Given the description of an element on the screen output the (x, y) to click on. 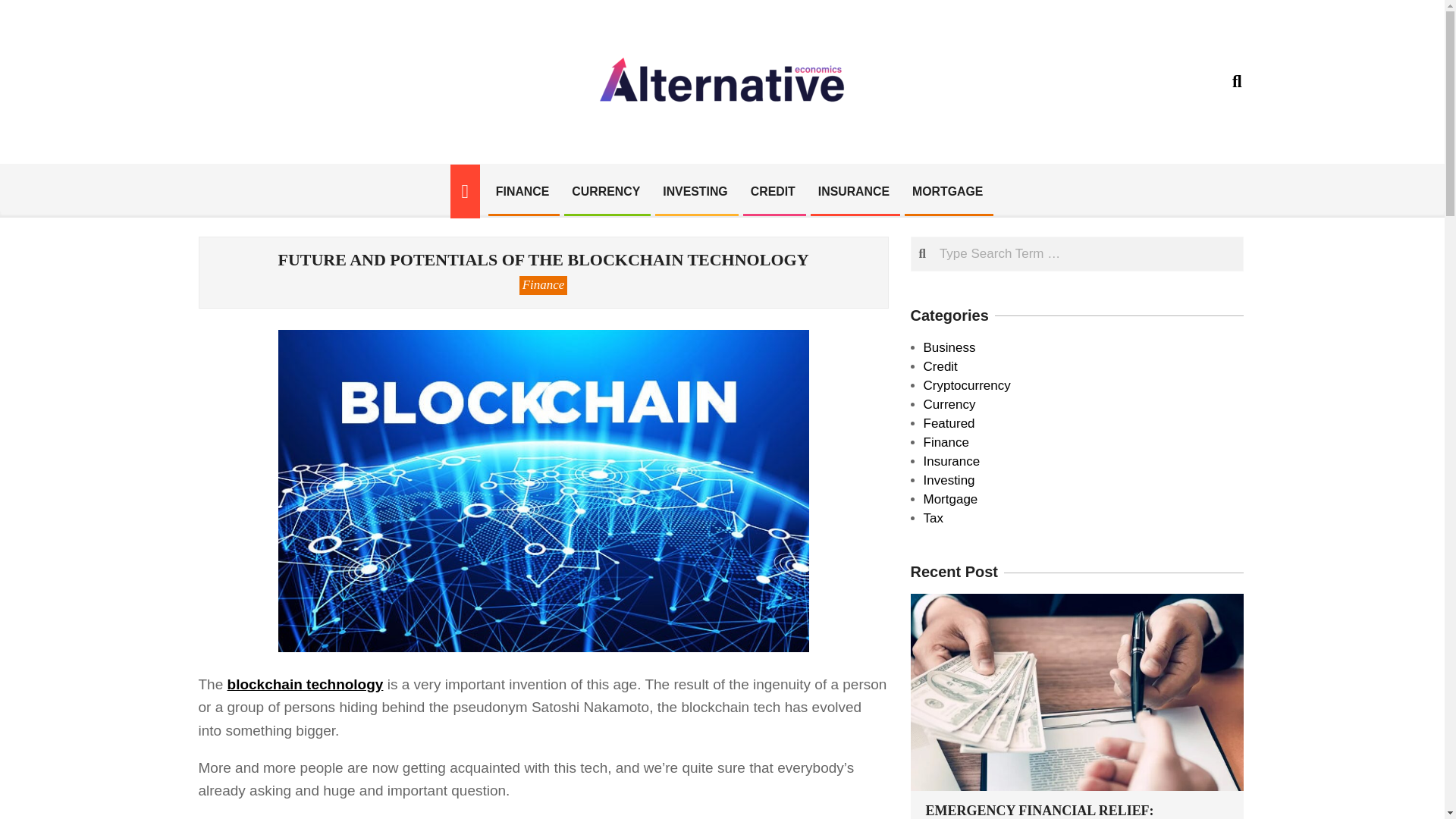
MORTGAGE (947, 190)
Search (27, 10)
Credit (940, 366)
Finance (543, 285)
CREDIT (772, 190)
Featured (949, 423)
Mortgage (950, 499)
INVESTING (694, 190)
blockchain technology (305, 684)
Business (949, 347)
